Given the description of an element on the screen output the (x, y) to click on. 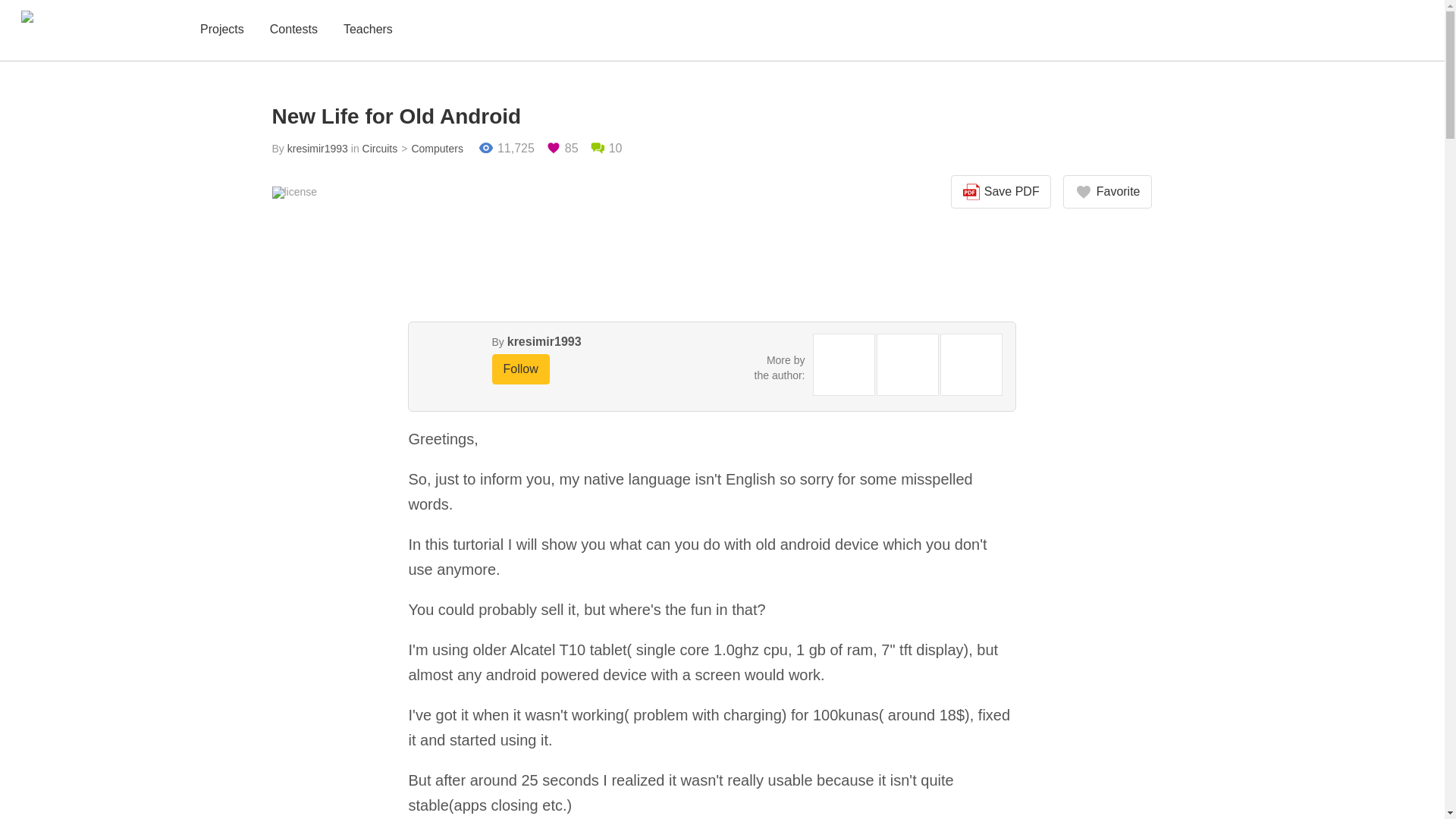
Contests (293, 30)
Computers (430, 148)
10 (606, 148)
Circuits (379, 148)
Projects (221, 30)
Follow (520, 368)
kresimir1993 (316, 148)
Save PDF (1000, 191)
Favorite (1106, 191)
kresimir1993 (543, 341)
Teachers (368, 30)
More by the author: (779, 366)
